Given the description of an element on the screen output the (x, y) to click on. 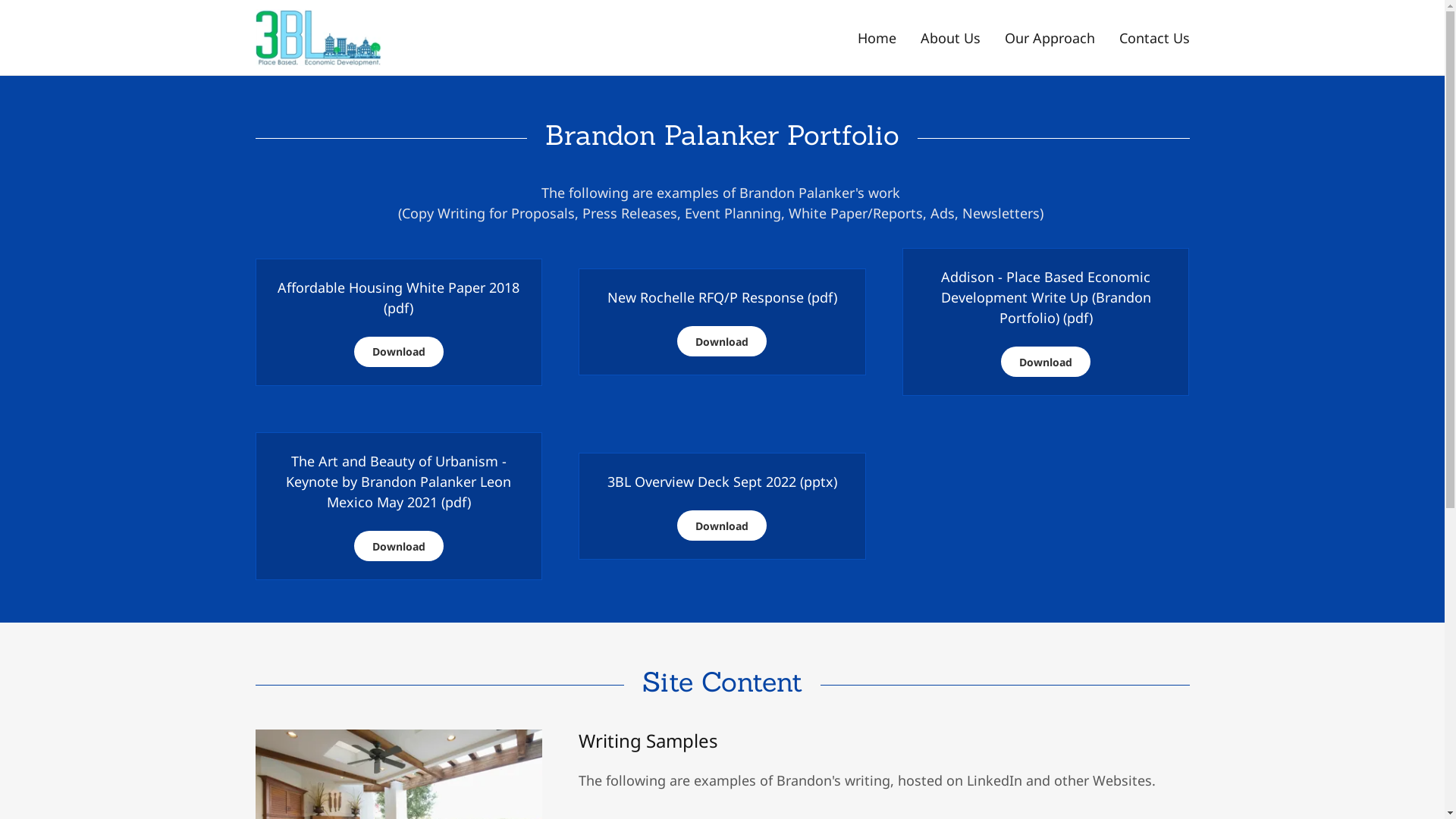
Download Element type: text (721, 341)
Our Approach Element type: text (1048, 37)
Download Element type: text (721, 525)
Contact Us Element type: text (1154, 37)
About Us Element type: text (950, 37)
Download Element type: text (1045, 361)
3blstrategies Element type: hover (317, 35)
Download Element type: text (398, 545)
Download Element type: text (398, 351)
Home Element type: text (876, 37)
